Given the description of an element on the screen output the (x, y) to click on. 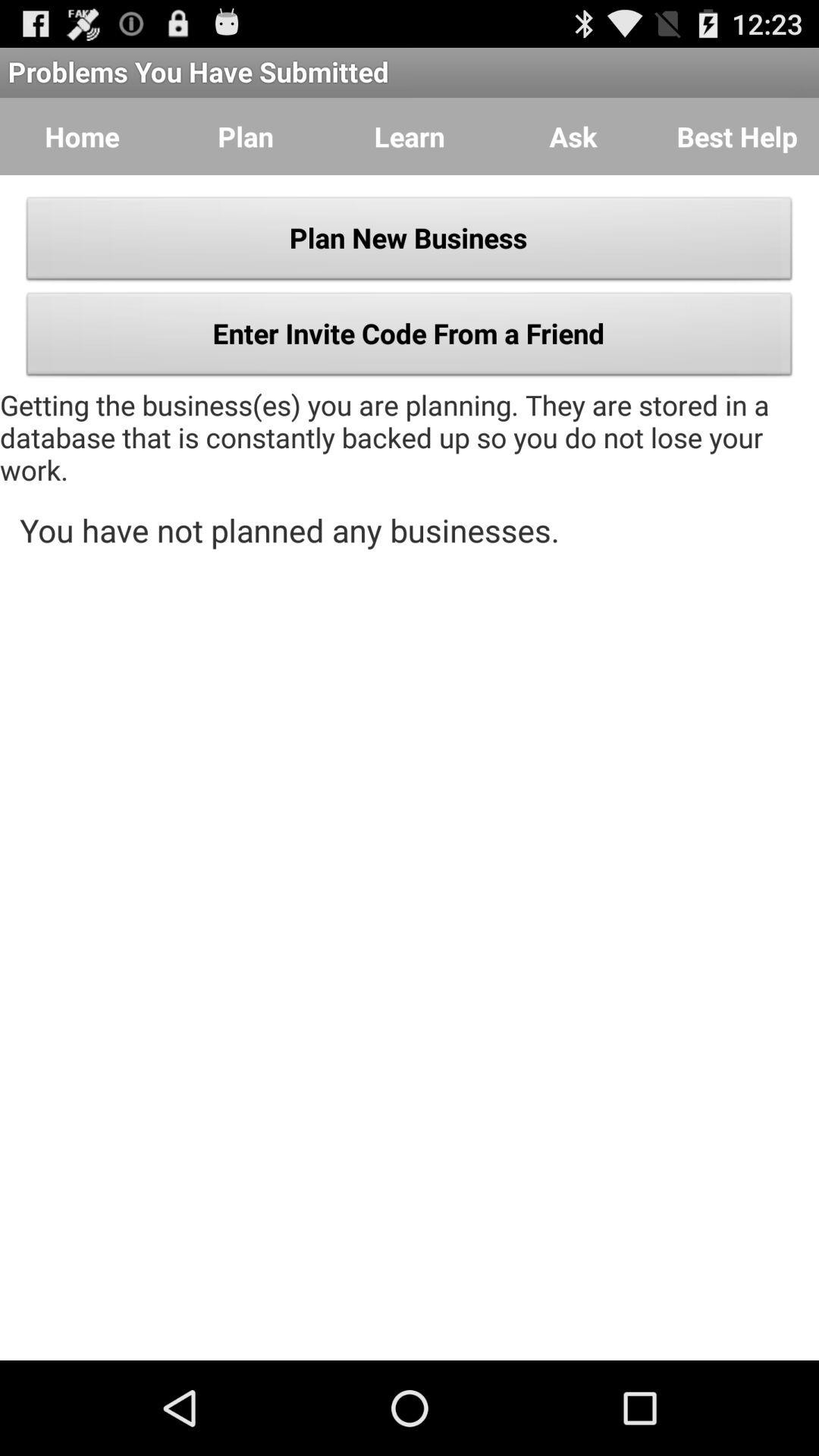
select the item next to the ask (737, 136)
